Given the description of an element on the screen output the (x, y) to click on. 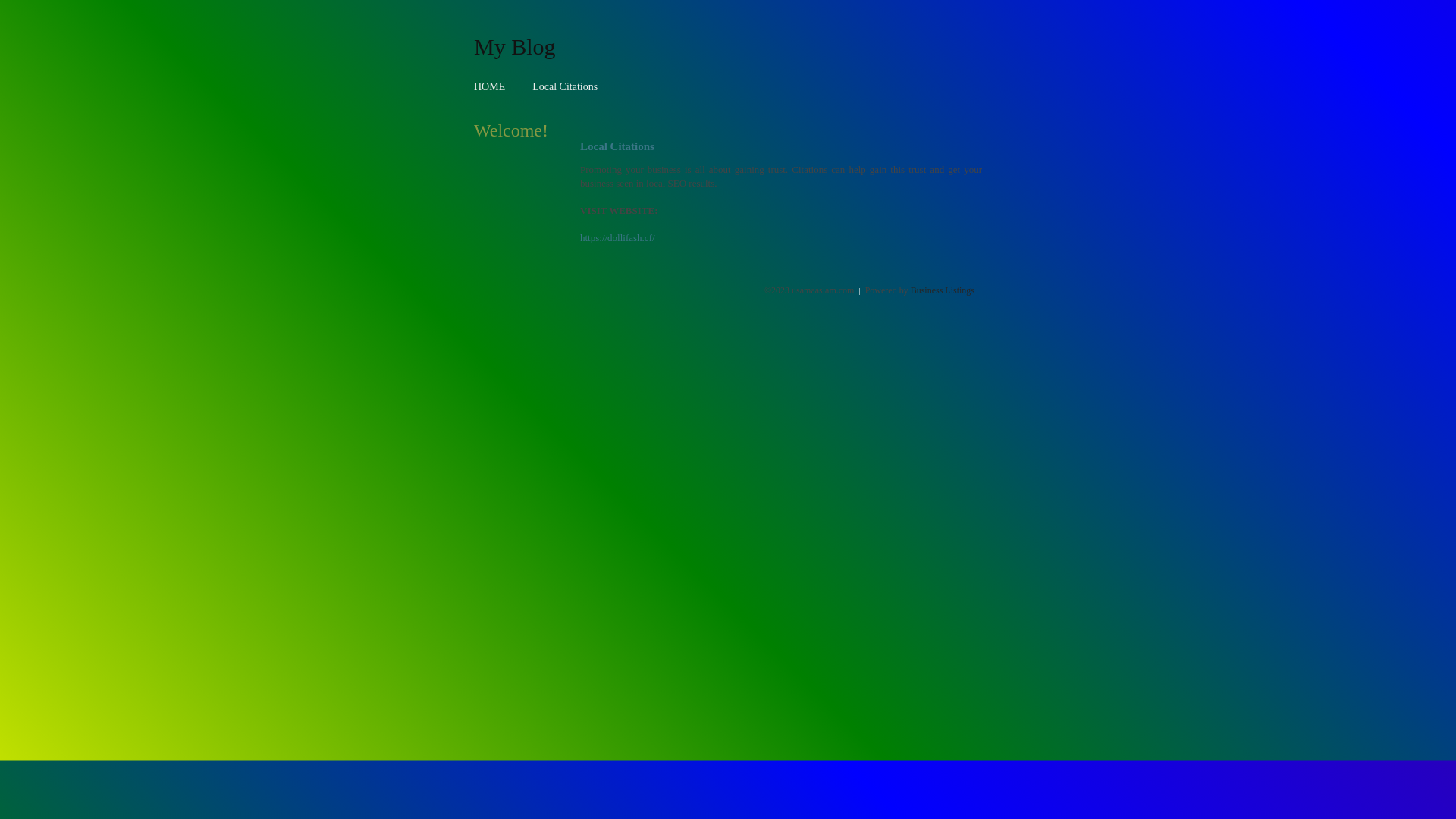
Business Listings Element type: text (942, 290)
My Blog Element type: text (514, 46)
https://dollifash.cf/ Element type: text (617, 237)
Local Citations Element type: text (564, 86)
HOME Element type: text (489, 86)
